Given the description of an element on the screen output the (x, y) to click on. 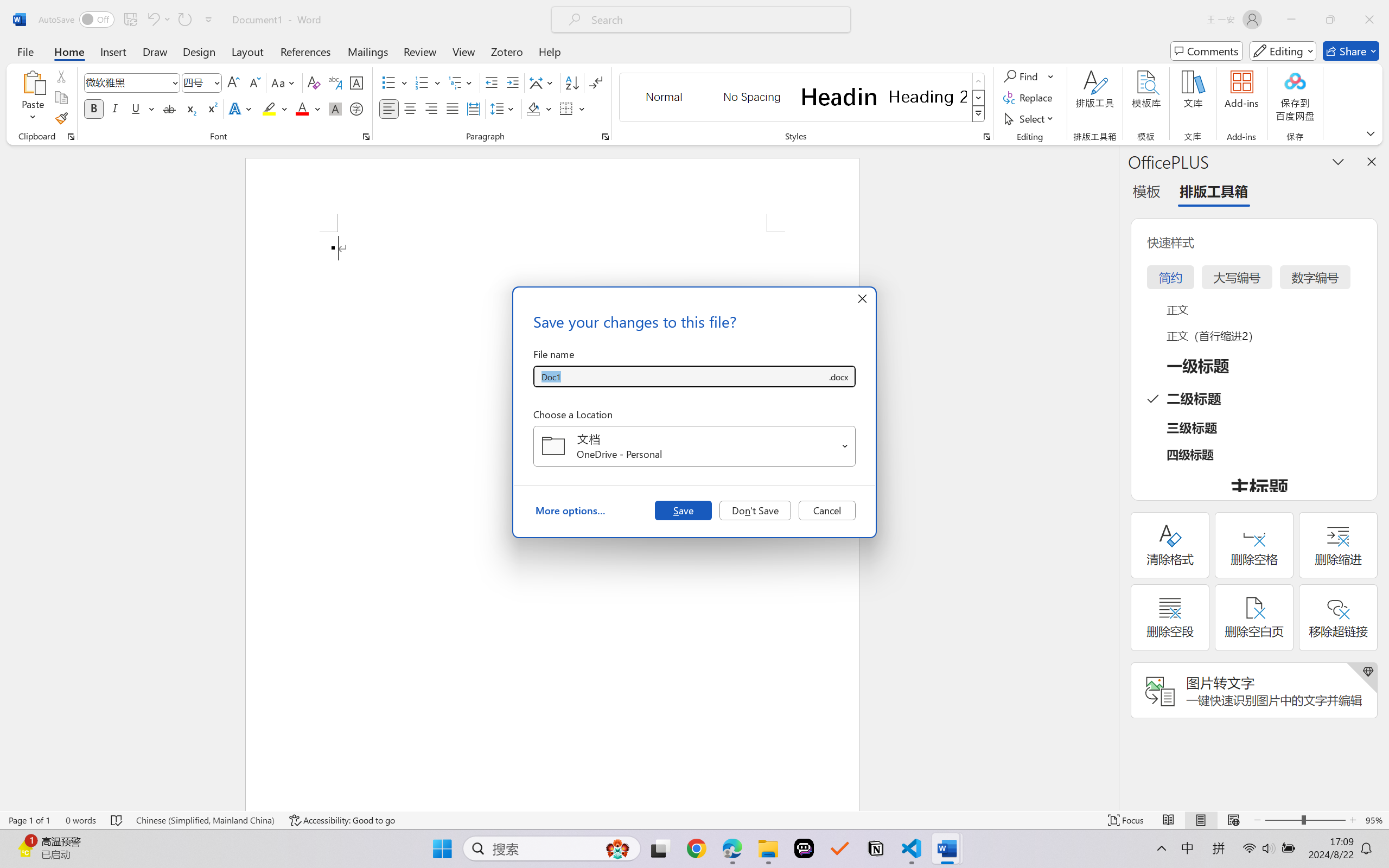
Microsoft search (715, 19)
Undo <ApplyStyleToDoc>b__0 (152, 19)
